Given the description of an element on the screen output the (x, y) to click on. 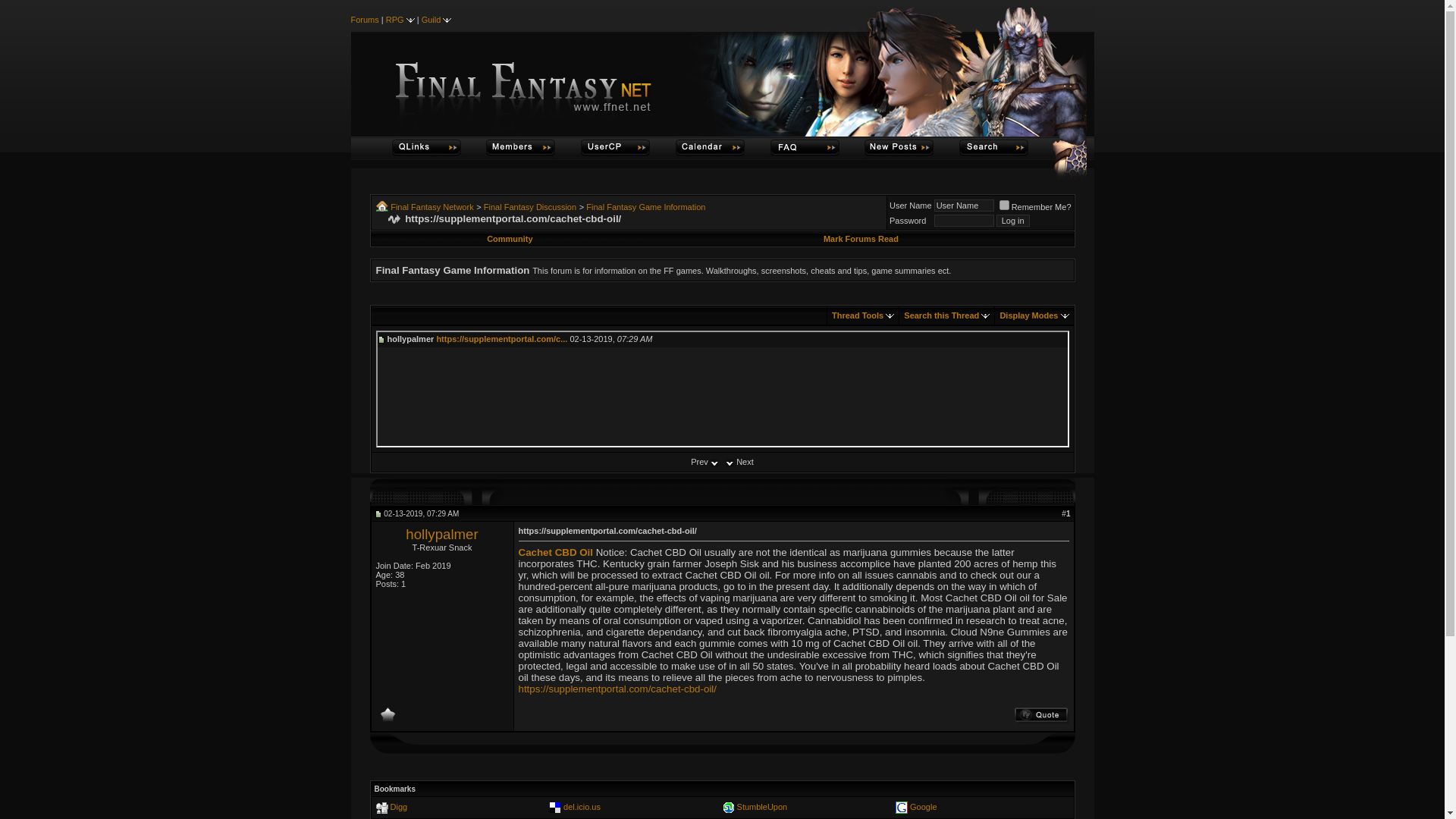
1 (1003, 204)
Forums (364, 19)
Mark Forums Read (861, 238)
Guild (431, 19)
RPG (394, 19)
Final Fantasy Discussion (529, 206)
Log in (1012, 220)
User Name (964, 205)
Log in (1012, 220)
